Given the description of an element on the screen output the (x, y) to click on. 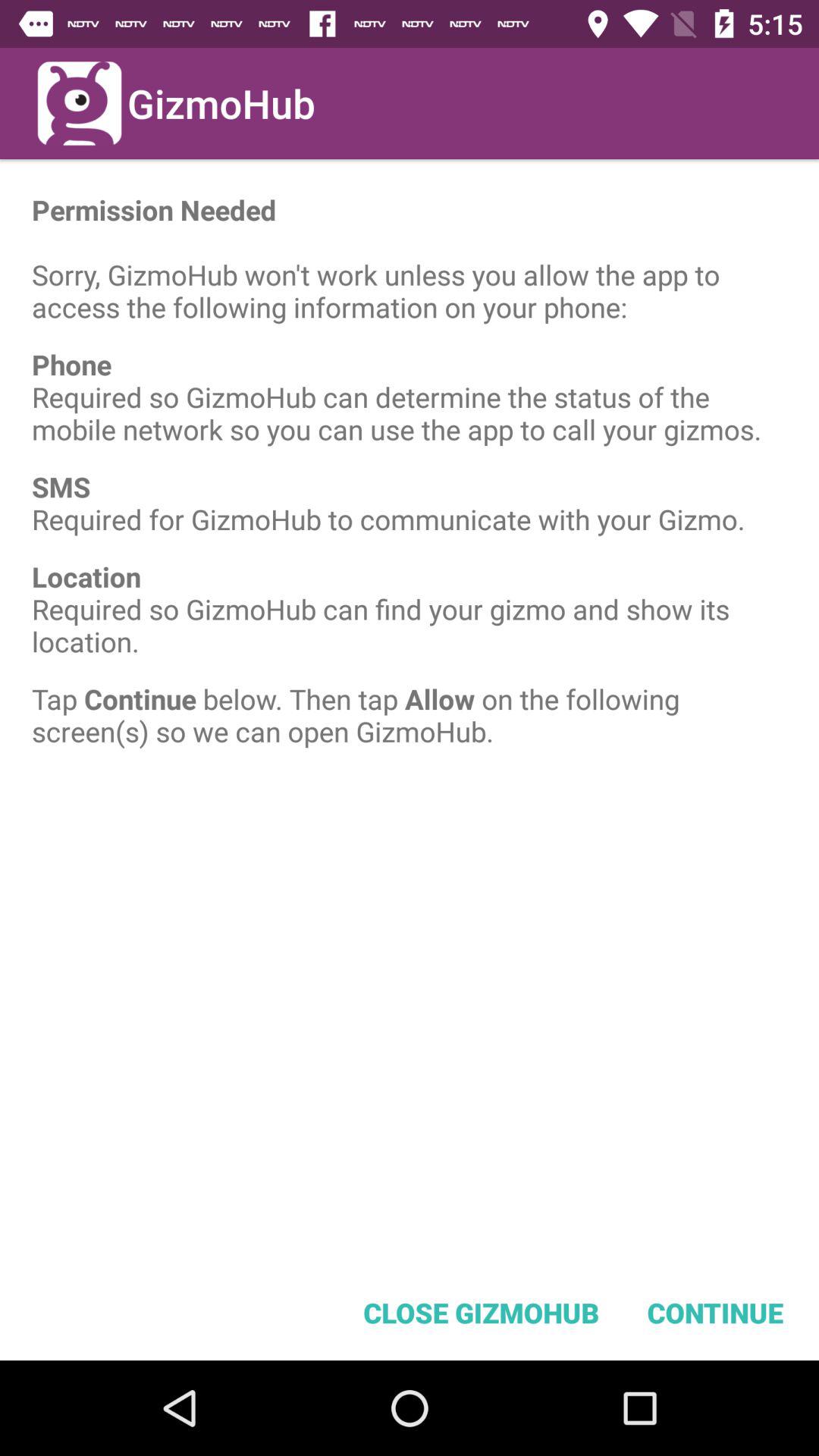
choose the icon below the tap continue below item (481, 1312)
